Given the description of an element on the screen output the (x, y) to click on. 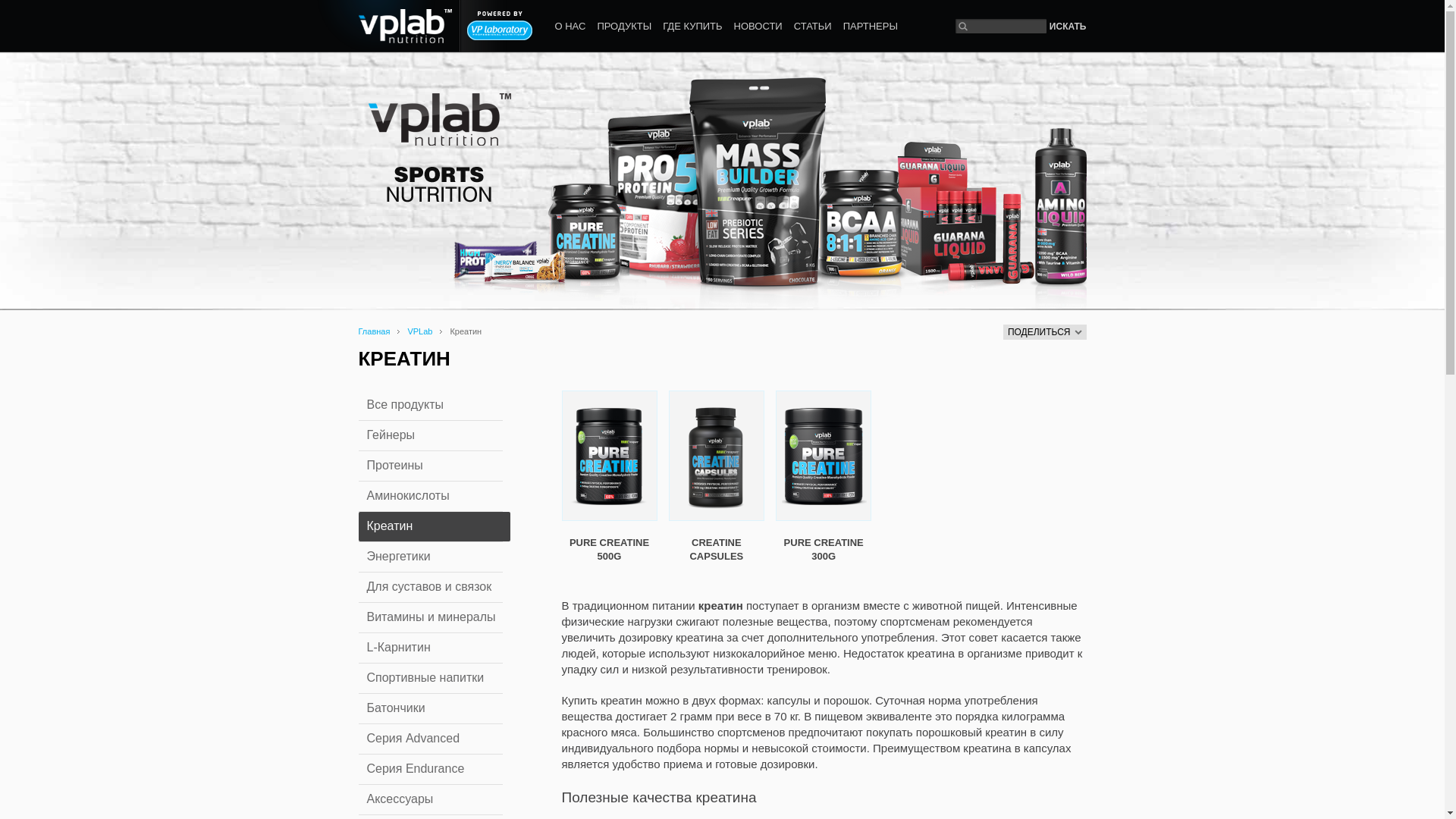
VPLab Element type: text (419, 331)
vplab nutrition Element type: text (383, 26)
Powered by VP laboratory Element type: text (499, 25)
